Given the description of an element on the screen output the (x, y) to click on. 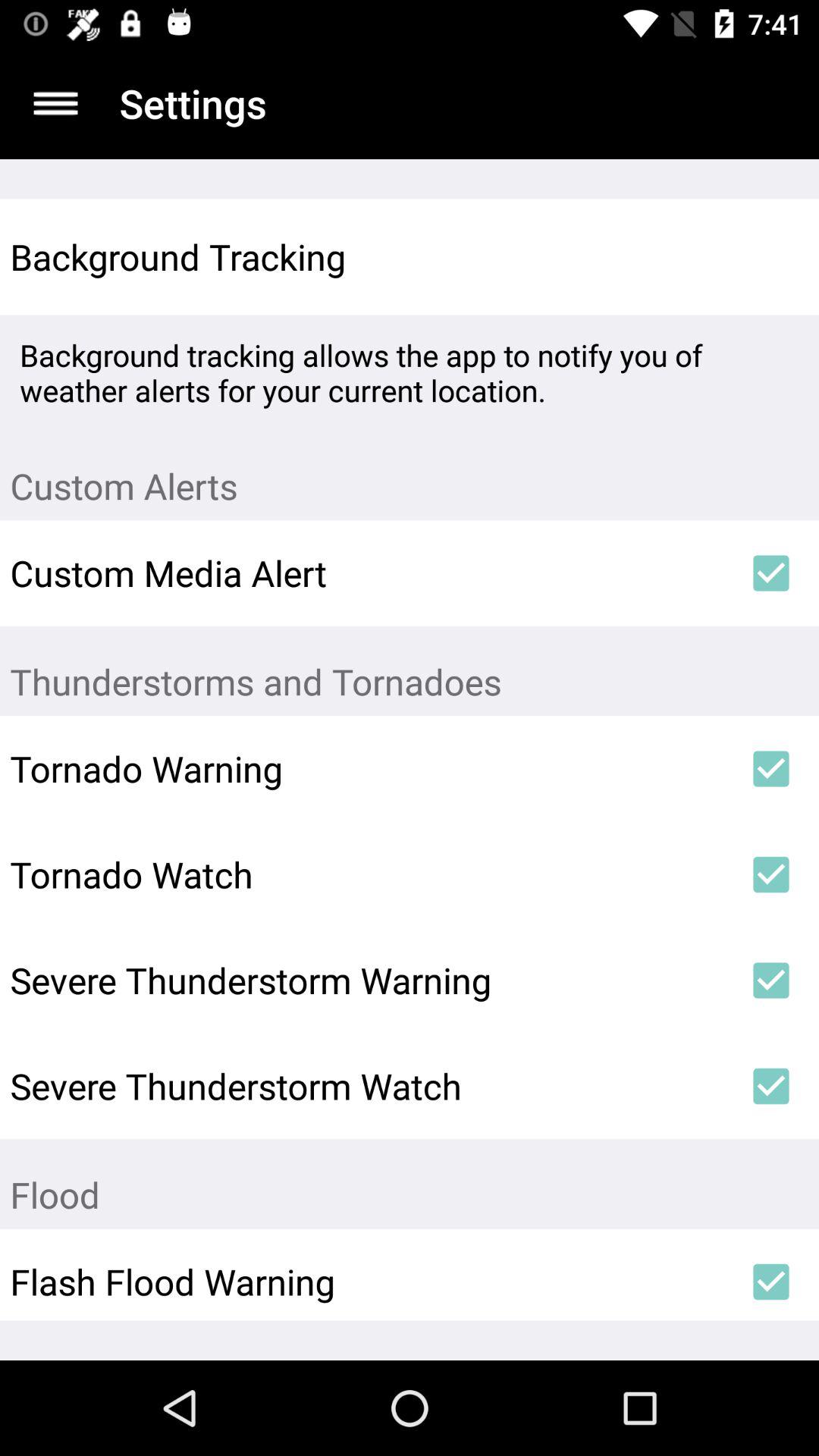
choose the item below the tornado warning item (366, 874)
